Given the description of an element on the screen output the (x, y) to click on. 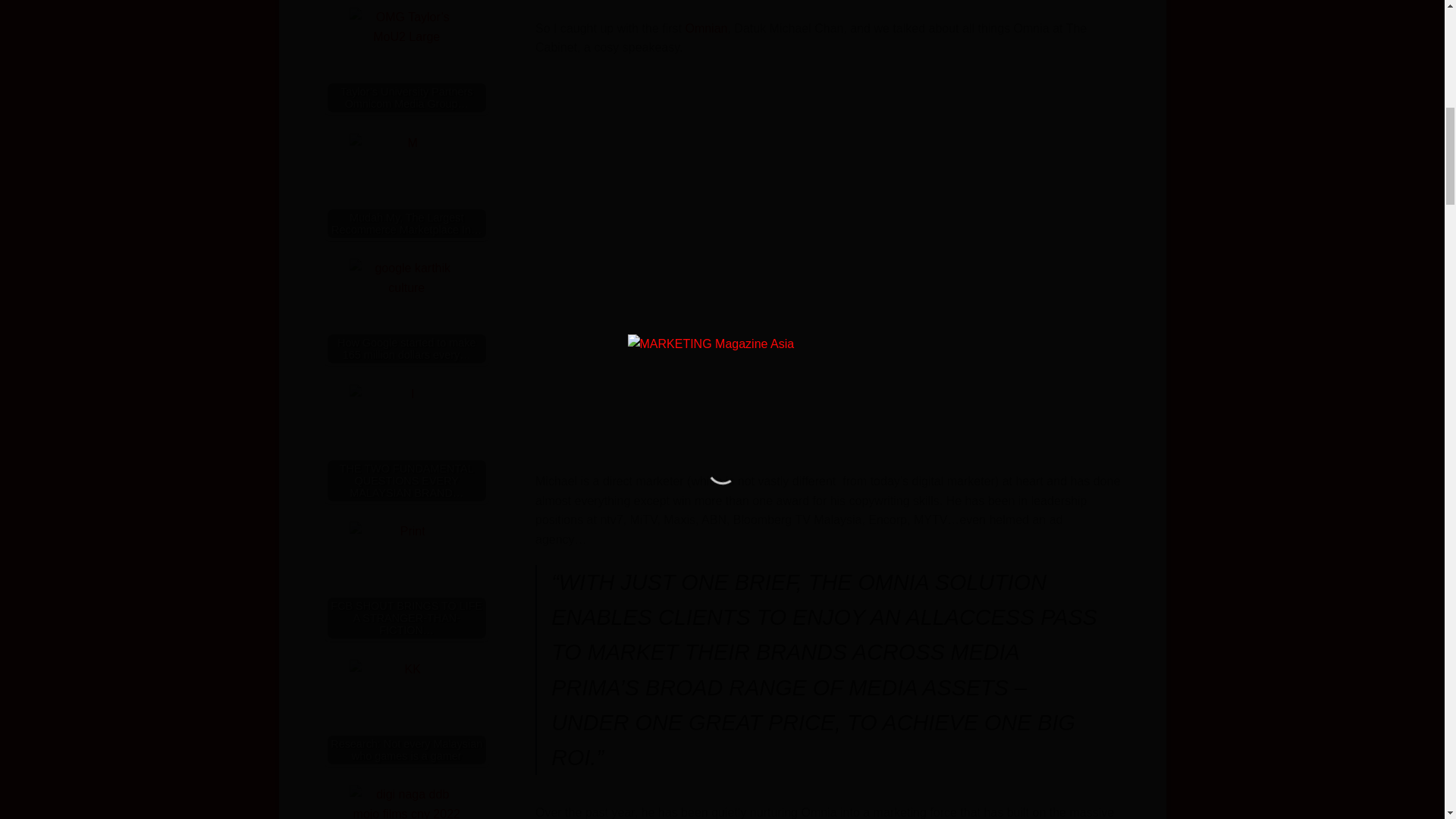
Research: Not every Malaysian who games is a gamer (406, 716)
